Given the description of an element on the screen output the (x, y) to click on. 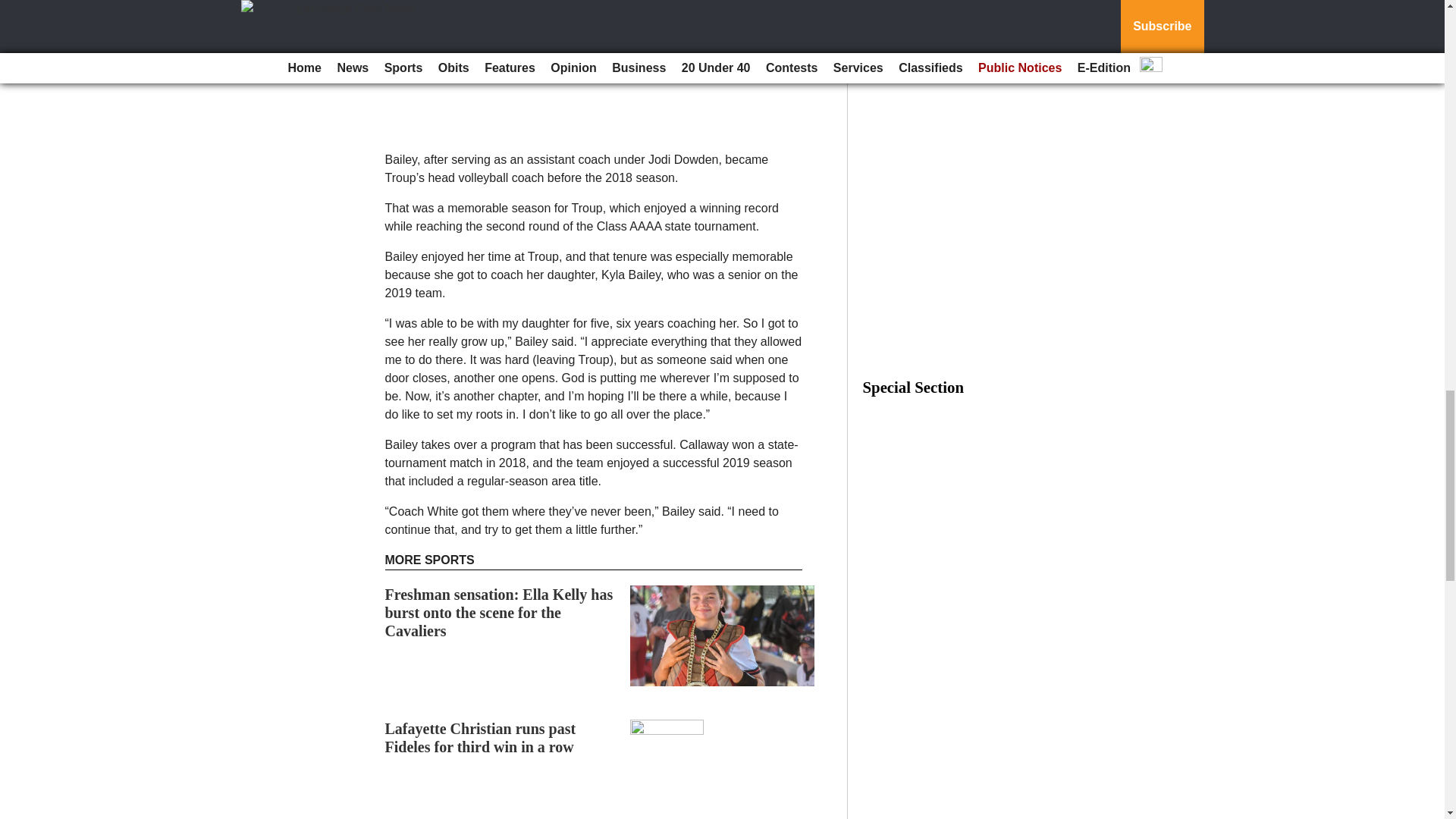
Lafayette Christian runs past Fideles for third win in a row (480, 737)
Lafayette Christian runs past Fideles for third win in a row (480, 737)
